Given the description of an element on the screen output the (x, y) to click on. 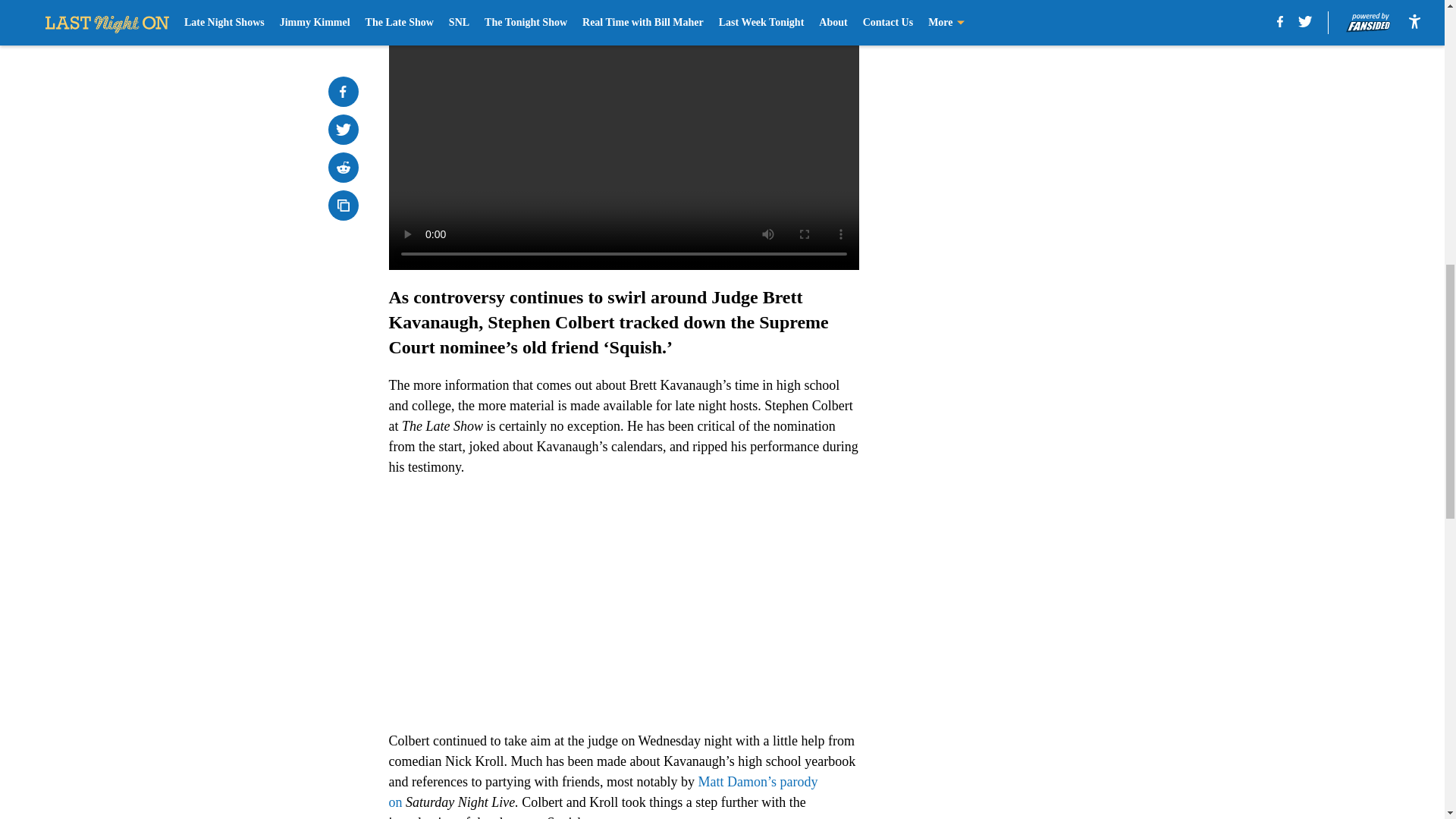
3rd party ad content (1047, 100)
3rd party ad content (1047, 320)
